Given the description of an element on the screen output the (x, y) to click on. 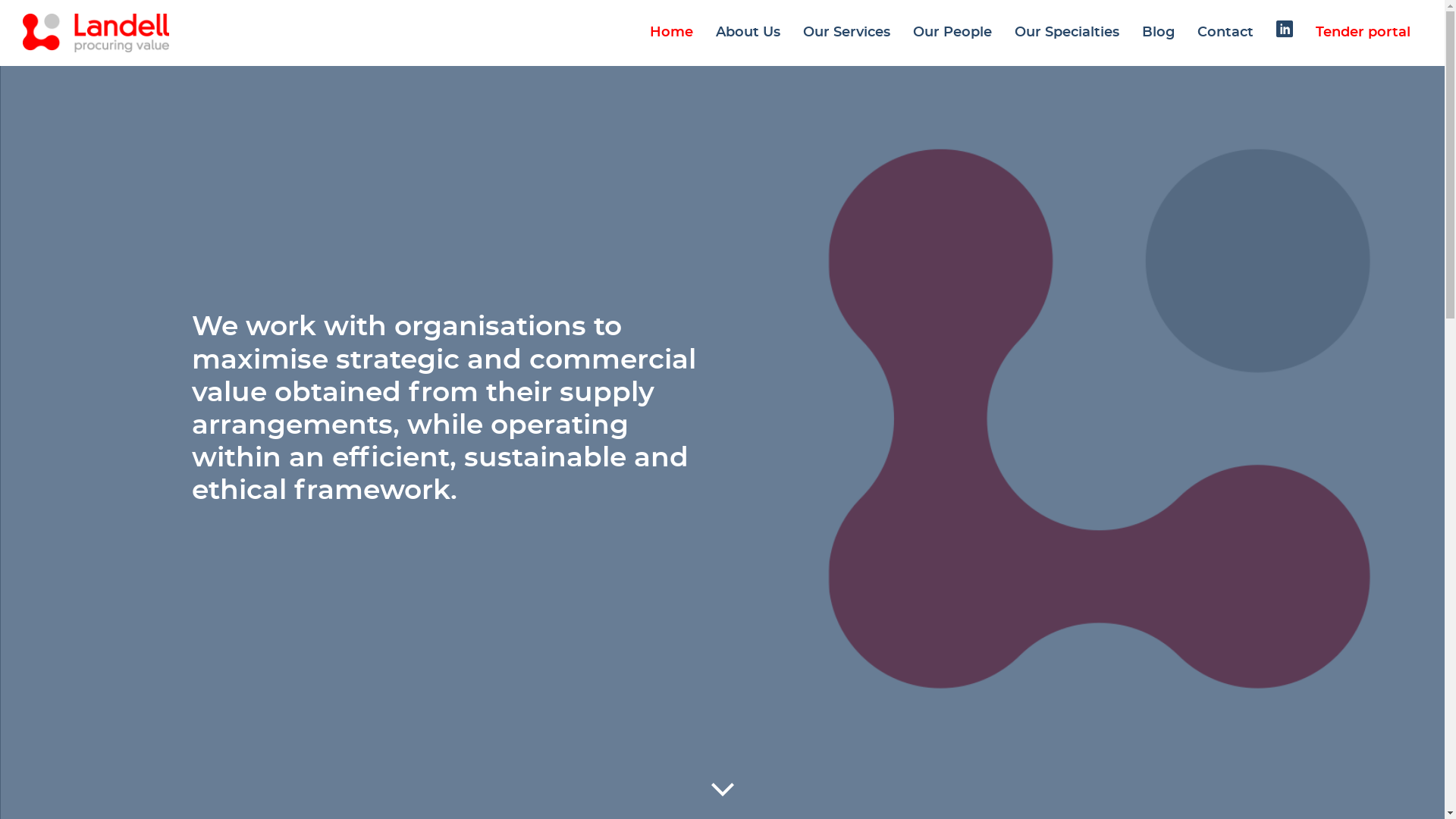
Our Services Element type: text (846, 32)
Our Specialties Element type: text (1066, 32)
Contact Element type: text (1225, 32)
Our People Element type: text (952, 32)
LinkedIn Element type: text (1284, 28)
Home Element type: text (671, 32)
Tender portal Element type: text (1363, 32)
Blog Element type: text (1158, 32)
About Us Element type: text (747, 32)
